Given the description of an element on the screen output the (x, y) to click on. 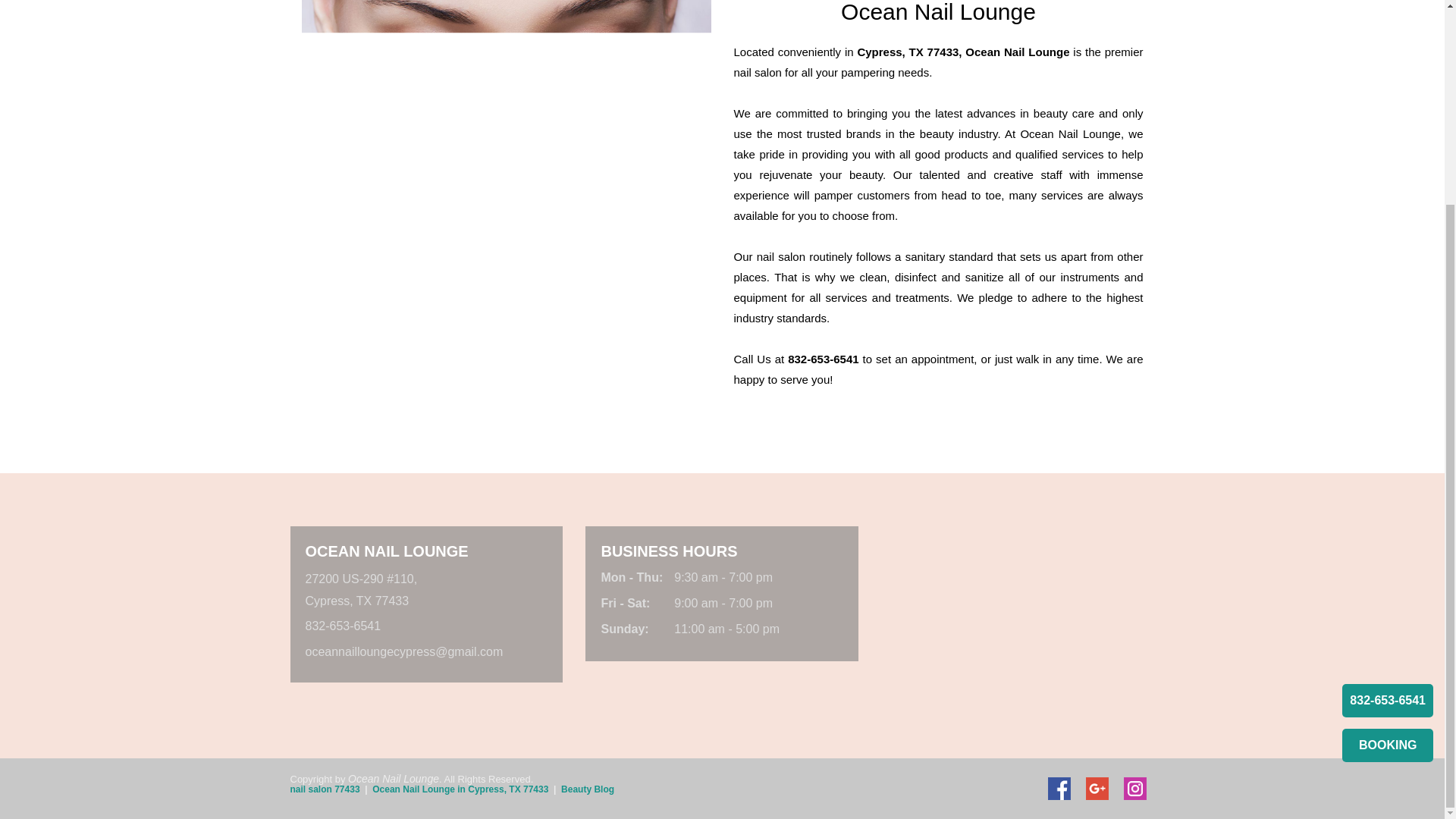
Cypress, TX 77433, Ocean Nail Lounge (962, 51)
nail salon 77433 (324, 788)
832-653-6541 (1387, 438)
Ocean Nail Lounge in Cypress, TX 77433 (460, 788)
Cypress, TX 77433, Ocean Nail Lounge (962, 51)
Beauty Blog (587, 788)
BOOKING (1387, 482)
832-653-6541 (342, 625)
